Given the description of an element on the screen output the (x, y) to click on. 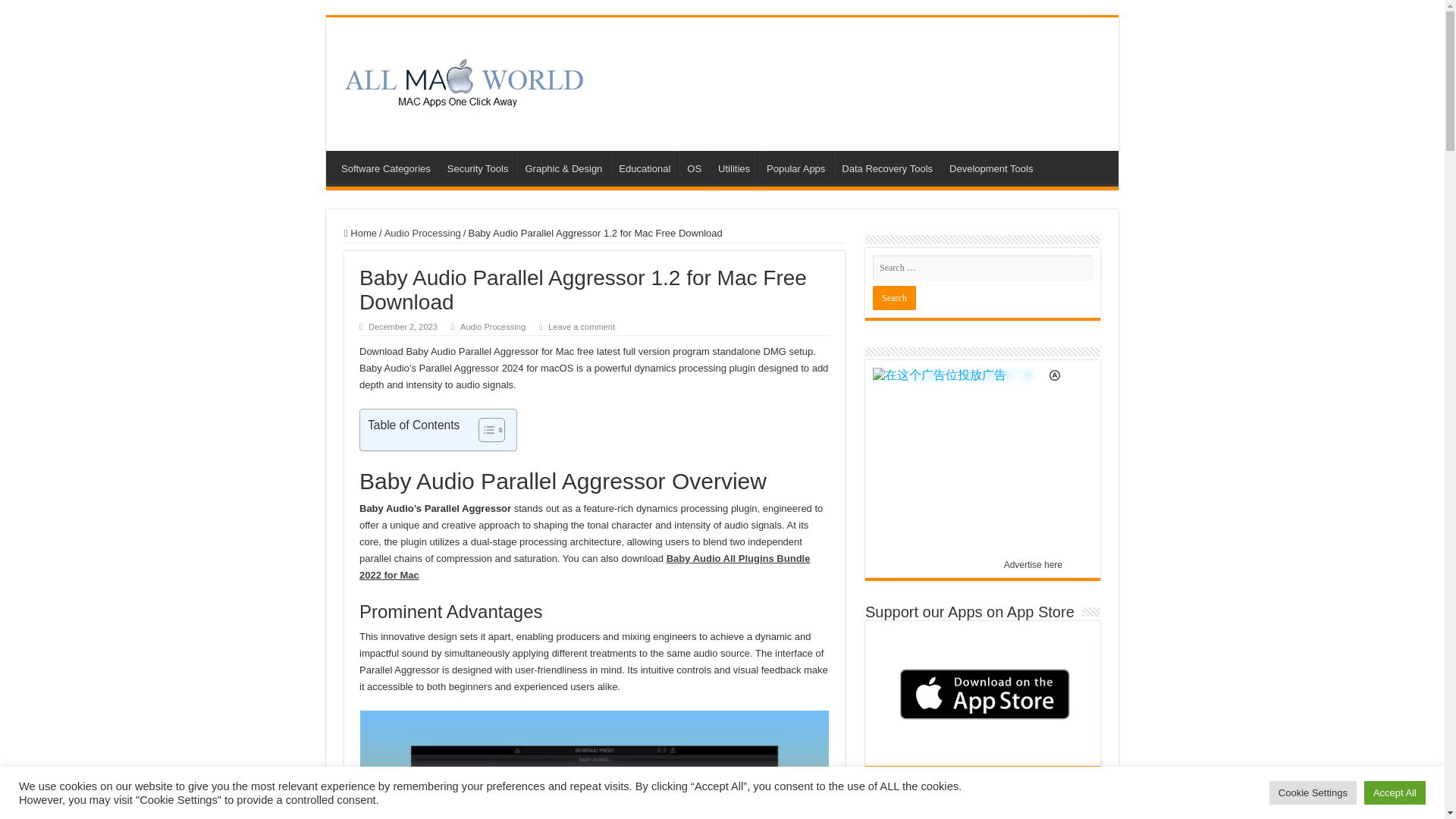
Popular Apps (795, 166)
Software Categories (385, 166)
OS (693, 166)
Security Tools (477, 166)
Utilities (733, 166)
Development Tools (990, 166)
AllMacWorld (462, 81)
Search (893, 297)
Baby Audio All Plugins Bundle 2022 for Mac (584, 566)
Home (360, 233)
Data Recovery Tools (886, 166)
Audio Processing (422, 233)
Leave a comment (581, 326)
Educational (644, 166)
Search (893, 297)
